Given the description of an element on the screen output the (x, y) to click on. 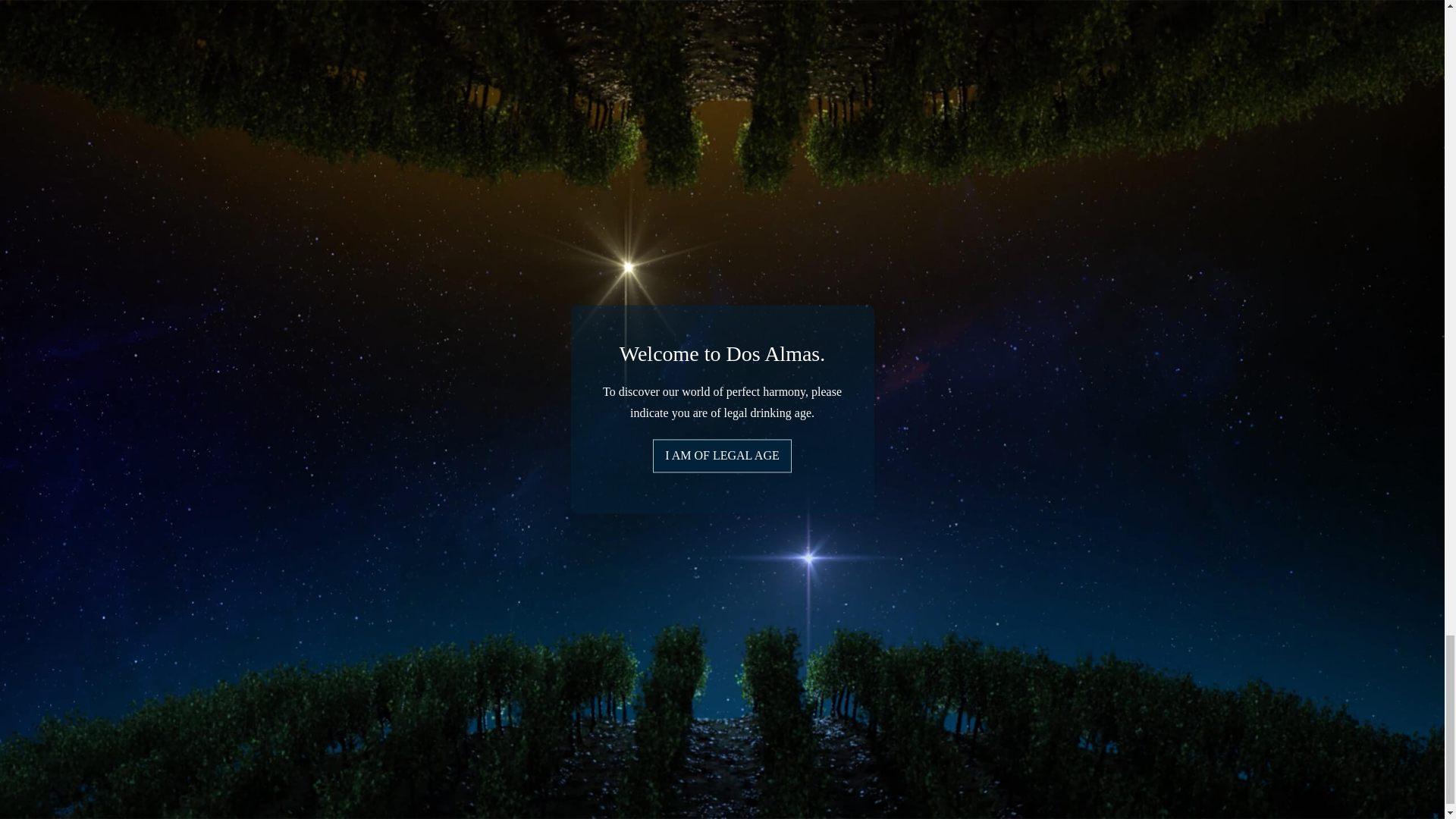
Really Simple Syndication (66, 474)
Really Simple Syndication (47, 458)
